Given the description of an element on the screen output the (x, y) to click on. 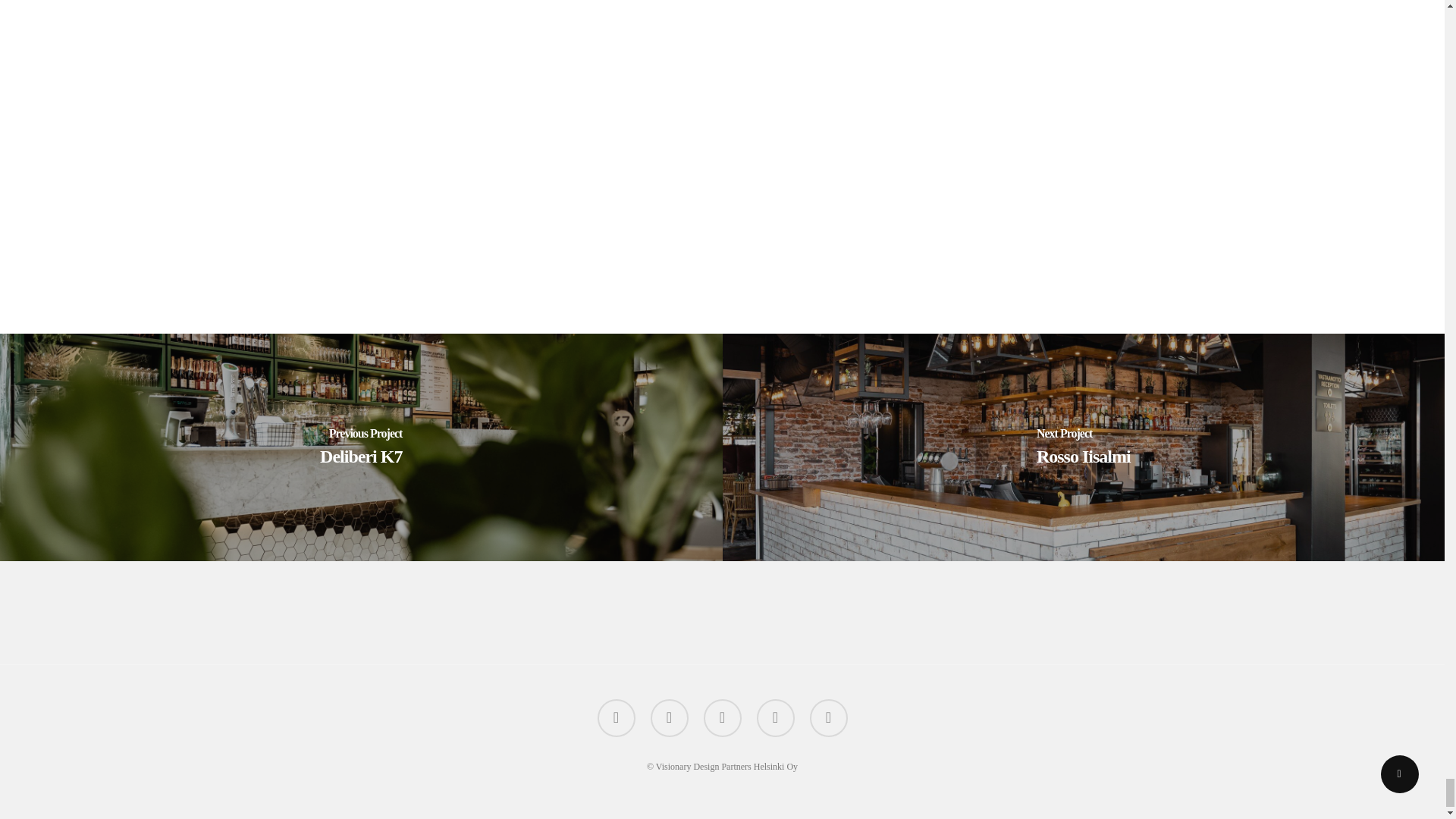
instagram (828, 718)
linkedin (775, 718)
twitter (615, 718)
facebook (669, 718)
pinterest (722, 718)
